Given the description of an element on the screen output the (x, y) to click on. 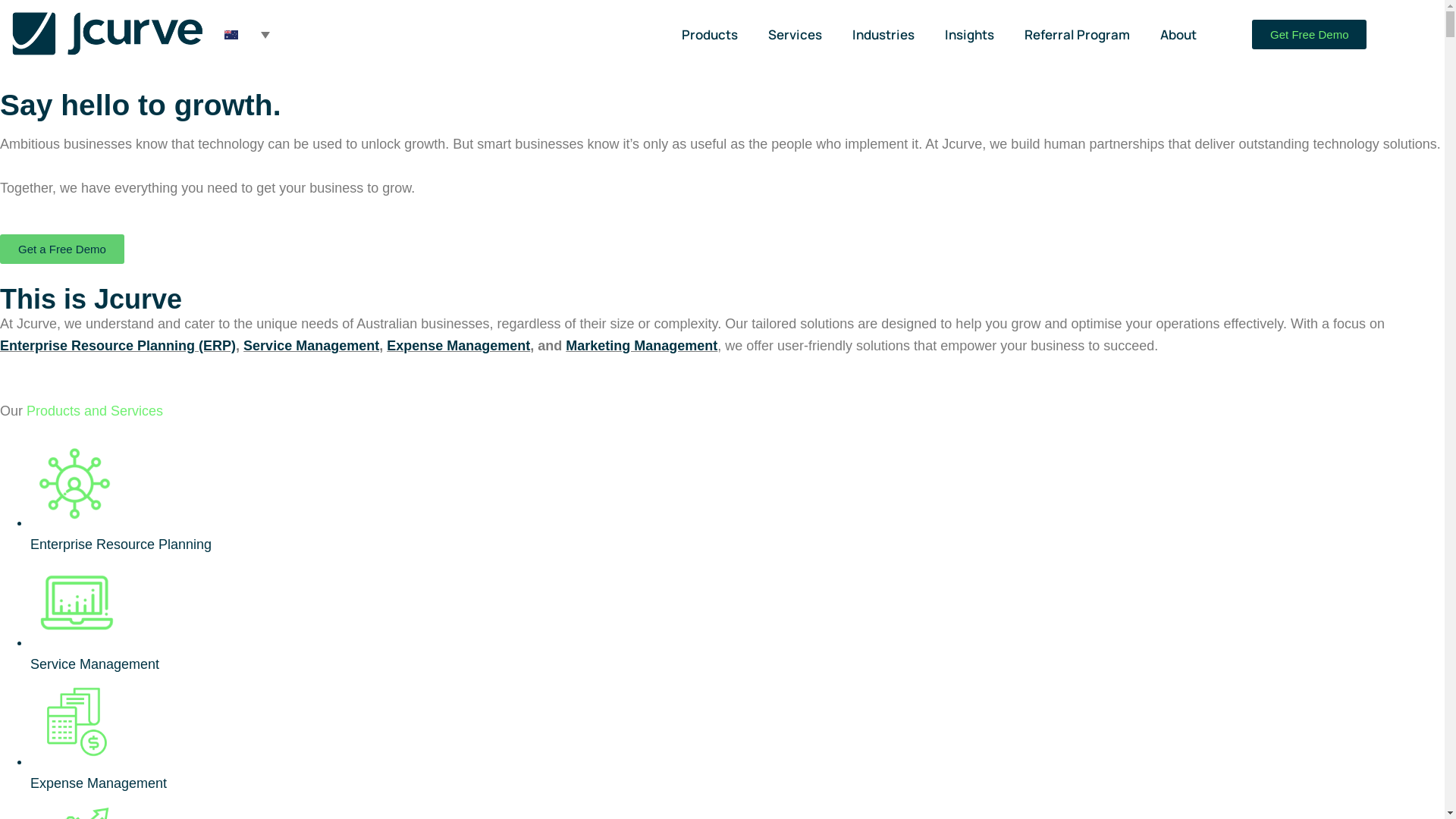
Service Management Element type: text (311, 345)
About Element type: text (1181, 34)
Referral Program Element type: text (1080, 34)
Get Free Demo Element type: text (1309, 34)
Enterprise Resource Planning (ERP) Element type: text (117, 345)
Marketing Management Element type: text (641, 345)
Insights Element type: text (972, 34)
Expense Management Element type: text (458, 345)
Industries Element type: text (886, 34)
Services Element type: text (798, 34)
Service Management Element type: text (737, 615)
Products Element type: text (713, 34)
Enterprise Resource Planning Element type: text (737, 495)
Expense Management Element type: text (737, 734)
Get a Free Demo Element type: text (62, 248)
